Given the description of an element on the screen output the (x, y) to click on. 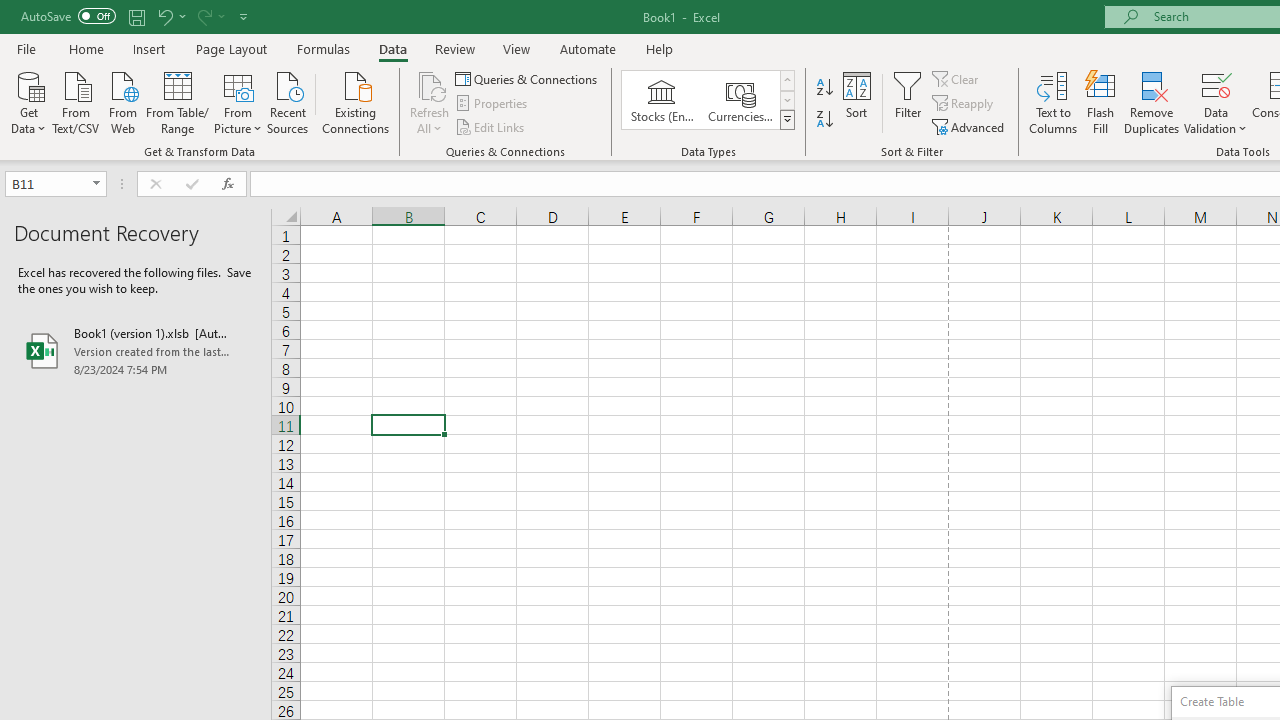
From Text/CSV (75, 101)
Insert (149, 48)
Data (392, 48)
Refresh All (429, 84)
Automate (588, 48)
Data Types (786, 120)
Sort... (856, 102)
File Tab (26, 48)
Queries & Connections (527, 78)
Clear (957, 78)
Home (86, 48)
